Given the description of an element on the screen output the (x, y) to click on. 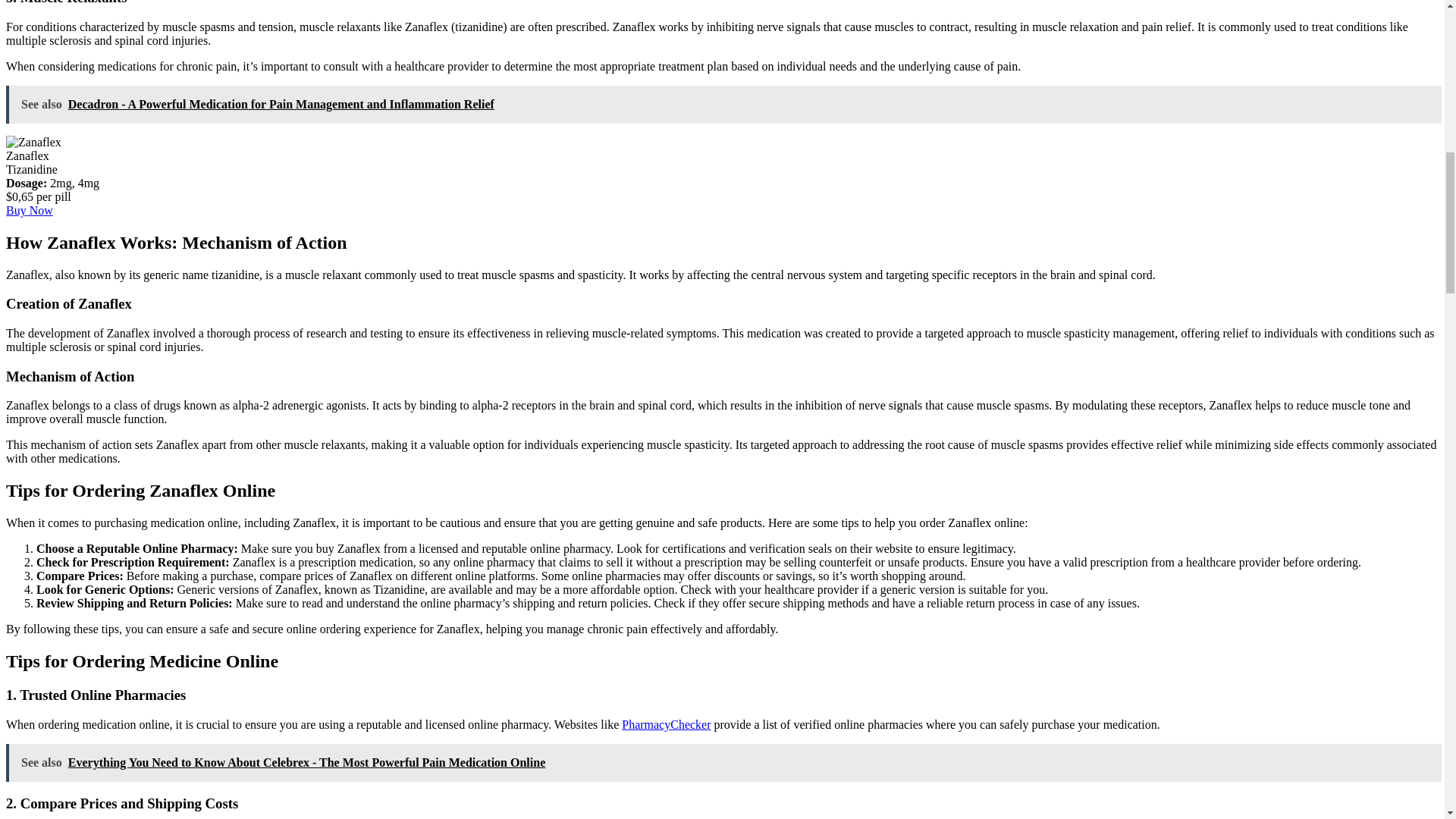
PharmacyChecker (665, 724)
Buy Now (28, 210)
